Given the description of an element on the screen output the (x, y) to click on. 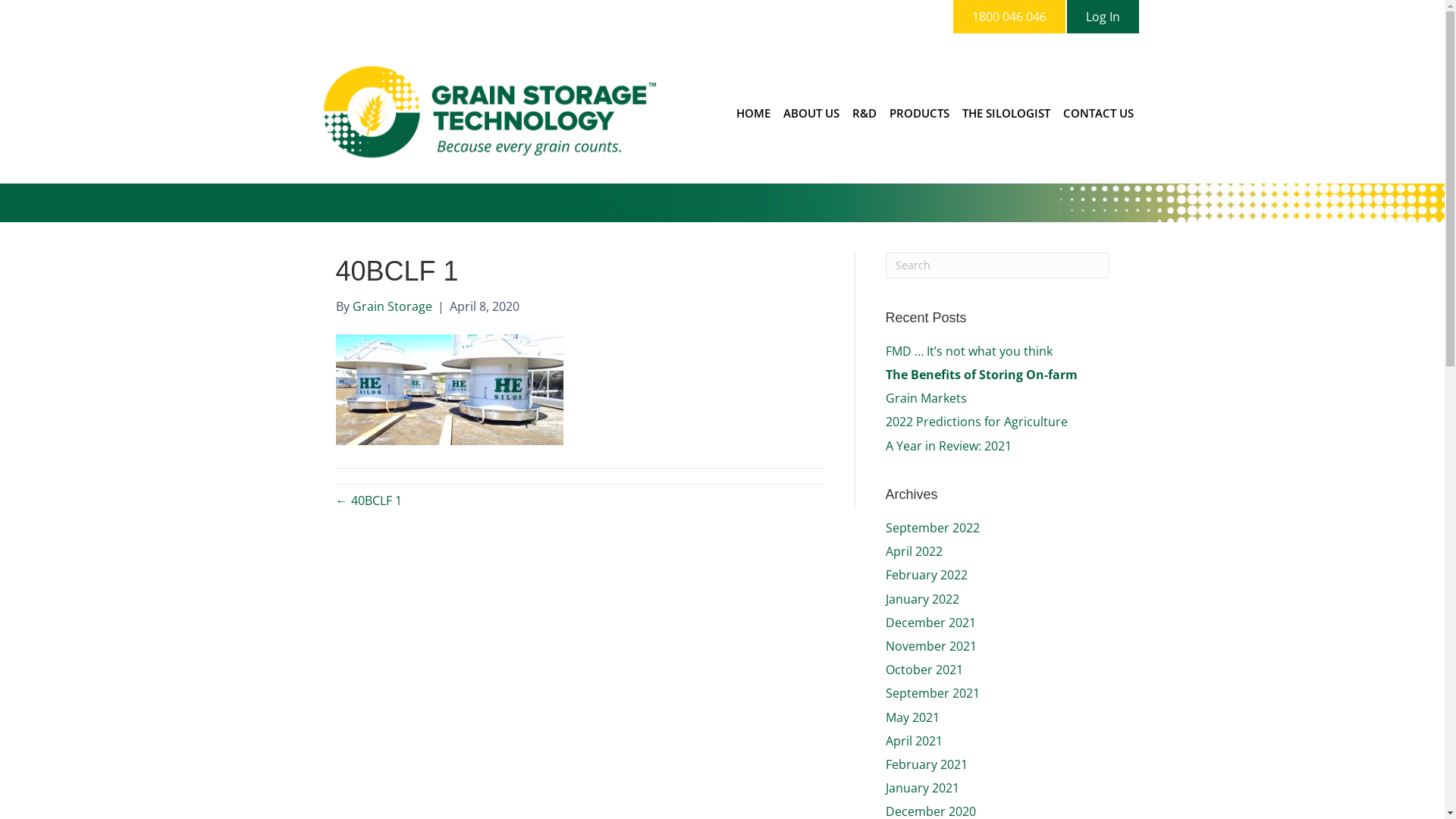
January 2022 Element type: text (922, 598)
December 2021 Element type: text (930, 622)
The Benefits of Storing On-farm Element type: text (981, 374)
September 2021 Element type: text (932, 692)
HOME Element type: text (753, 113)
2022 Predictions for Agriculture Element type: text (976, 421)
November 2021 Element type: text (930, 645)
GST_Logo_LScape_TM Element type: hover (487, 111)
Type and press Enter to search. Element type: hover (997, 265)
THE SILOLOGIST Element type: text (1006, 113)
April 2021 Element type: text (913, 740)
September 2022 Element type: text (932, 527)
Grain Storage Element type: text (391, 306)
PRODUCTS Element type: text (919, 113)
April 2022 Element type: text (913, 550)
Grain Markets Element type: text (925, 397)
February 2022 Element type: text (926, 574)
ABOUT US Element type: text (811, 113)
1800 046 046 Element type: text (1009, 16)
R&D Element type: text (864, 113)
October 2021 Element type: text (924, 669)
January 2021 Element type: text (922, 787)
May 2021 Element type: text (912, 717)
A Year in Review: 2021 Element type: text (948, 445)
February 2021 Element type: text (926, 764)
GST_LHead-Bar Element type: hover (722, 202)
CONTACT US Element type: text (1098, 113)
Log In Element type: text (1102, 16)
